Given the description of an element on the screen output the (x, y) to click on. 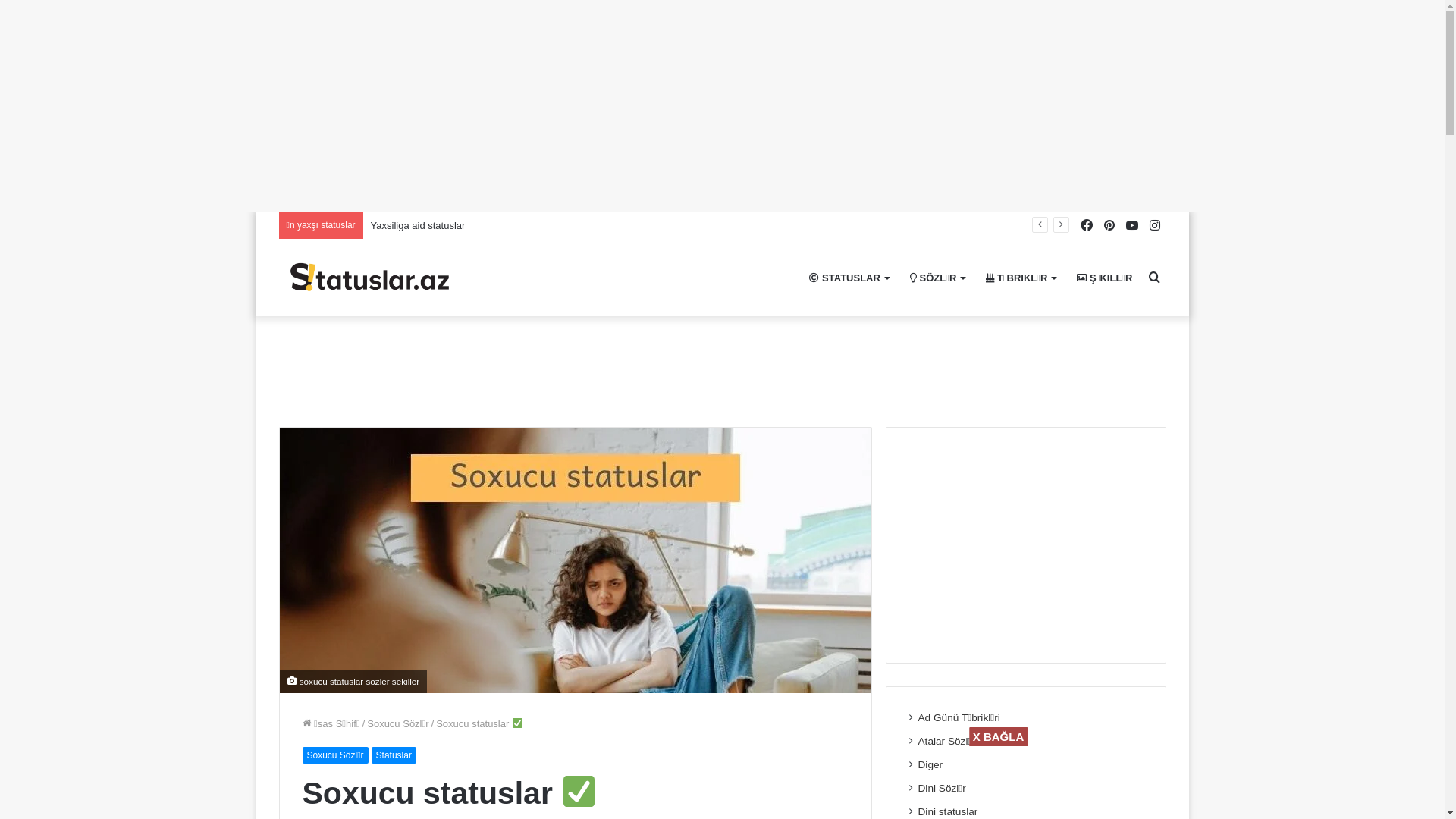
YouTube Element type: text (1131, 225)
Instagram Element type: text (1154, 225)
Advertisement Element type: hover (1025, 545)
Advertisement Element type: hover (751, 780)
Statuslar Element type: text (393, 754)
Facebook Element type: text (1086, 225)
Baci haqqinda statuslar Element type: text (421, 225)
Advertisement Element type: hover (455, 106)
Diger Element type: text (930, 764)
Advertisement Element type: hover (721, 365)
Axtar.. Element type: text (1154, 278)
( 2023 ) Statuslar Element type: hover (368, 278)
STATUSLAR Element type: text (848, 278)
Pinterest Element type: text (1109, 225)
